Given the description of an element on the screen output the (x, y) to click on. 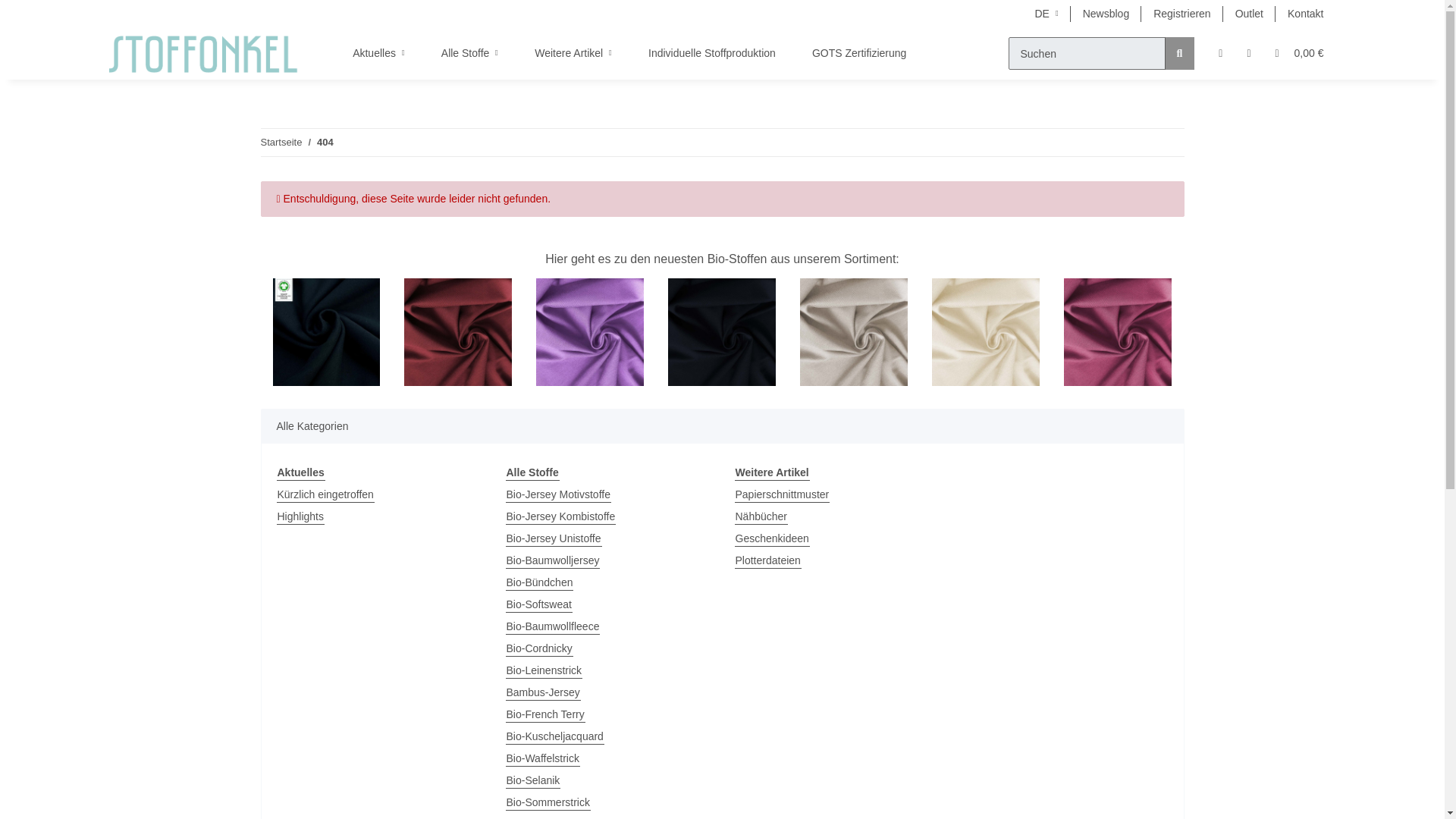
Weitere Artikel (573, 53)
Aktuelles (378, 53)
Individuelle Stoffproduktion (711, 53)
Stoffonkel (203, 53)
Registrieren (1182, 13)
Aktuelles (378, 53)
Kontaktformular (1305, 13)
GOTS Zertifizierung (858, 53)
DE (1046, 13)
Alle Stoffe (469, 53)
Weitere Artikel (573, 53)
Aktuelles (378, 53)
Startseite (281, 142)
